Given the description of an element on the screen output the (x, y) to click on. 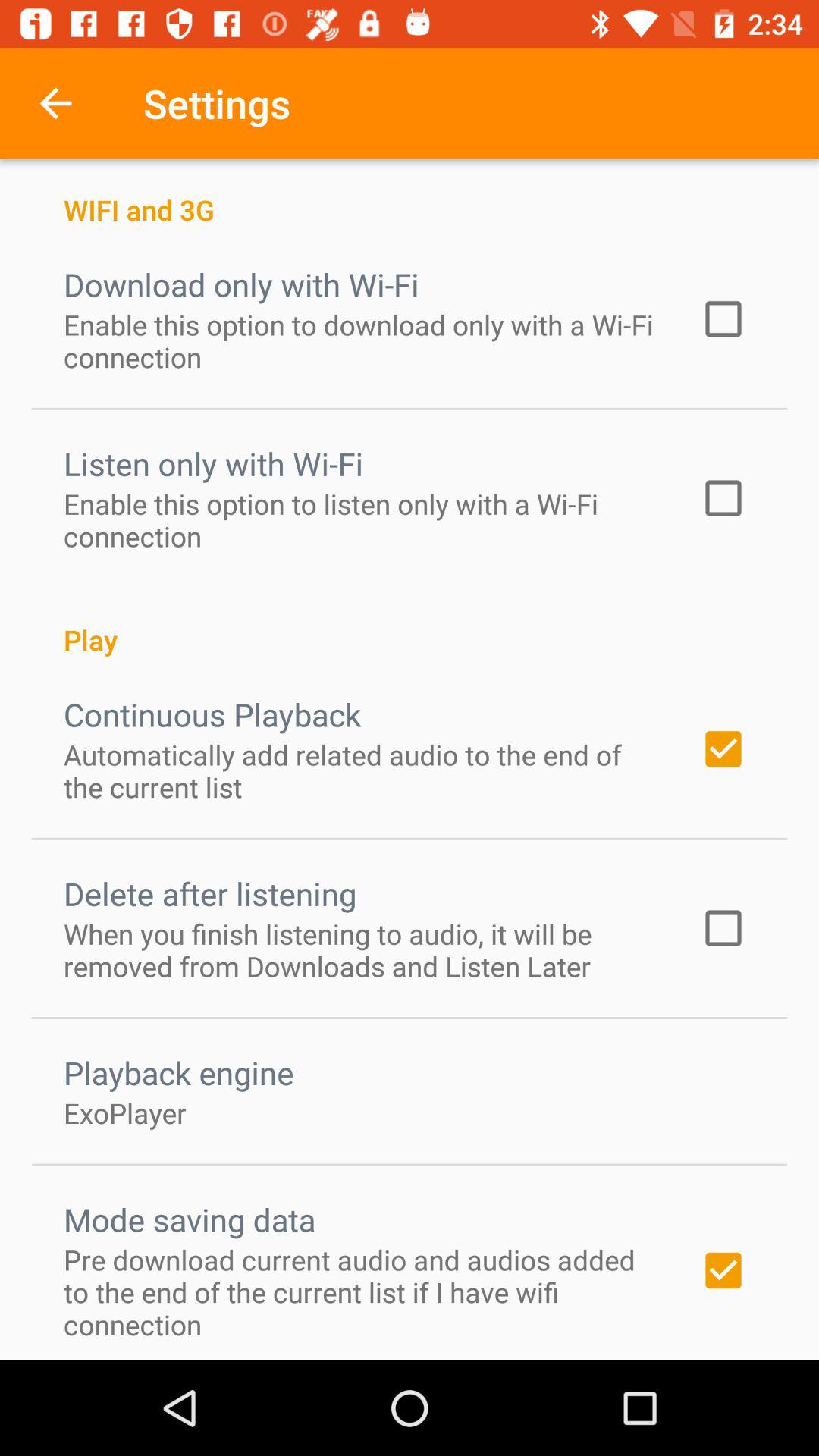
turn on item below the when you finish item (178, 1072)
